Given the description of an element on the screen output the (x, y) to click on. 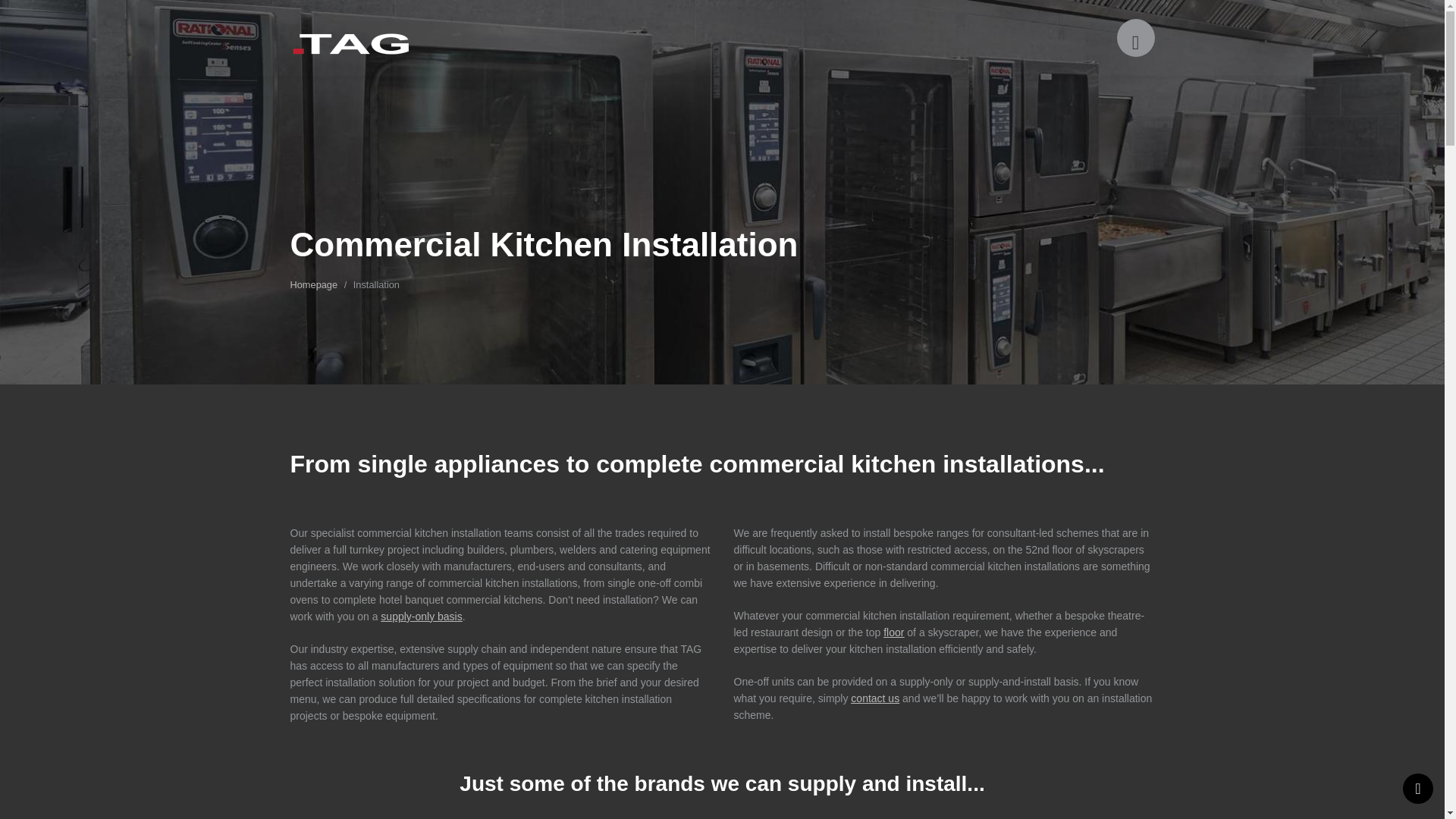
contact us (874, 698)
Homepage (313, 284)
floor (893, 632)
supply-only basis (420, 616)
Scroll To Top (1417, 788)
